Given the description of an element on the screen output the (x, y) to click on. 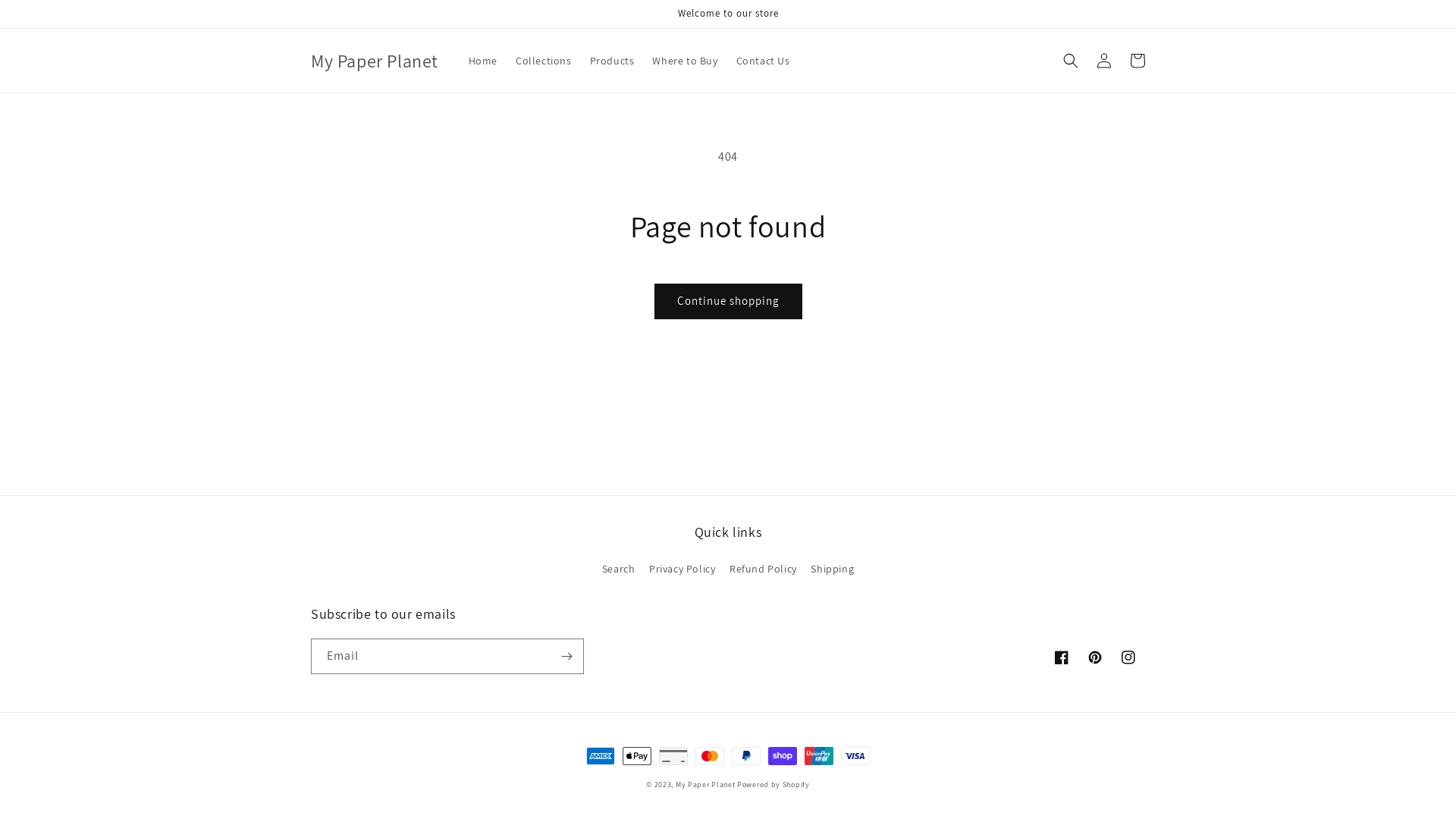
Pinterest Element type: text (1094, 657)
Home Element type: text (482, 60)
Where to Buy Element type: text (684, 60)
Search Element type: text (618, 570)
Cart Element type: text (1137, 60)
Products Element type: text (611, 60)
My Paper Planet Element type: text (705, 784)
My Paper Planet Element type: text (373, 60)
Log in Element type: text (1103, 60)
Refund Policy Element type: text (763, 568)
Continue shopping Element type: text (727, 301)
Instagram Element type: text (1128, 657)
Collections Element type: text (543, 60)
Contact Us Element type: text (763, 60)
Shipping Element type: text (831, 568)
Privacy Policy Element type: text (682, 568)
Facebook Element type: text (1061, 657)
Powered by Shopify Element type: text (773, 784)
